Given the description of an element on the screen output the (x, y) to click on. 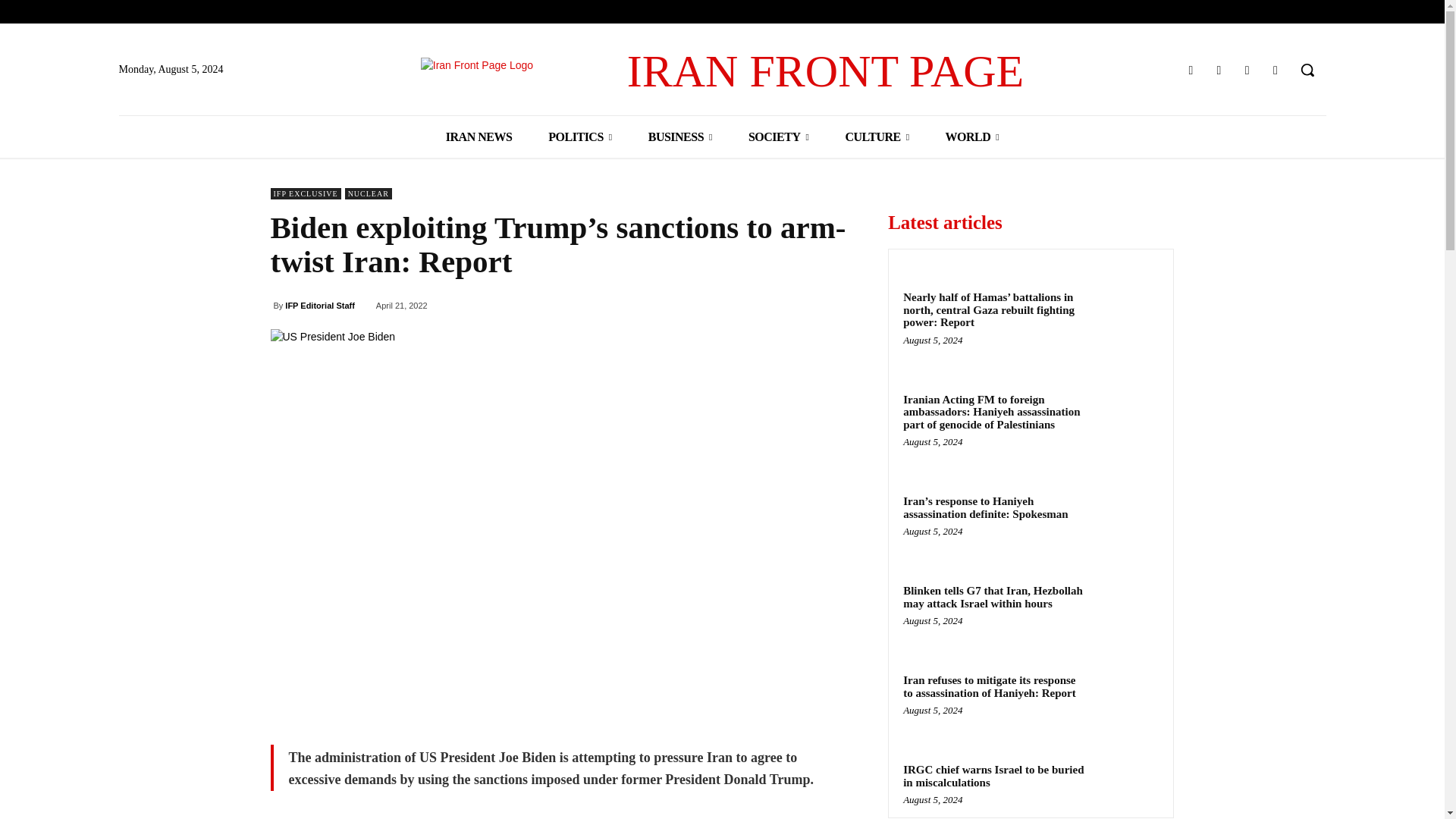
Iran Front Page Logo (721, 70)
Iran Front Page Logo (523, 71)
Facebook (1190, 69)
